Given the description of an element on the screen output the (x, y) to click on. 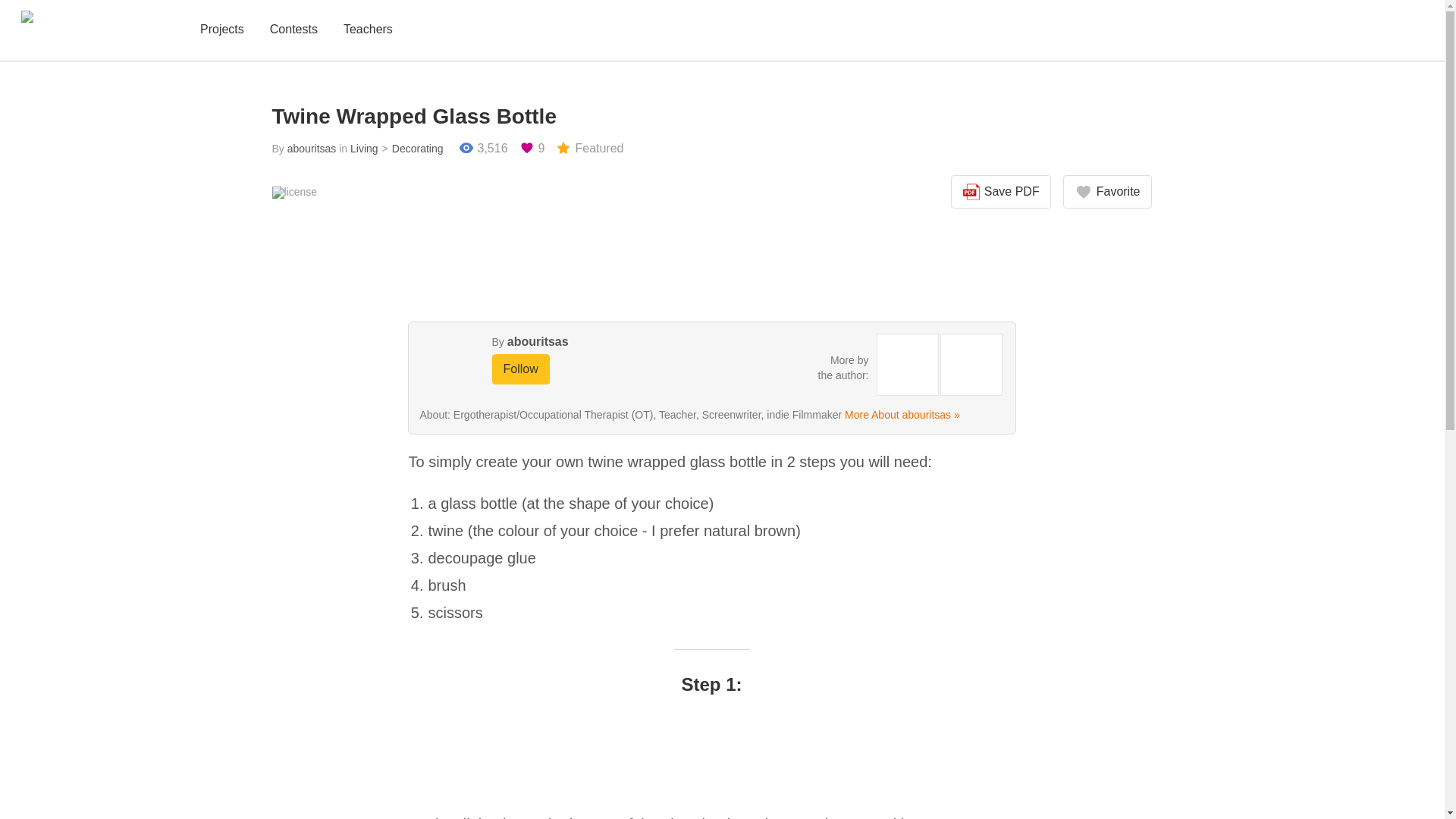
Follow (520, 368)
Projects (221, 30)
Favorite (1106, 191)
abouritsas (311, 148)
abouritsas (537, 341)
Contests (293, 30)
Living (364, 148)
Teachers (368, 30)
Decorating (411, 148)
Save PDF (1000, 191)
